Given the description of an element on the screen output the (x, y) to click on. 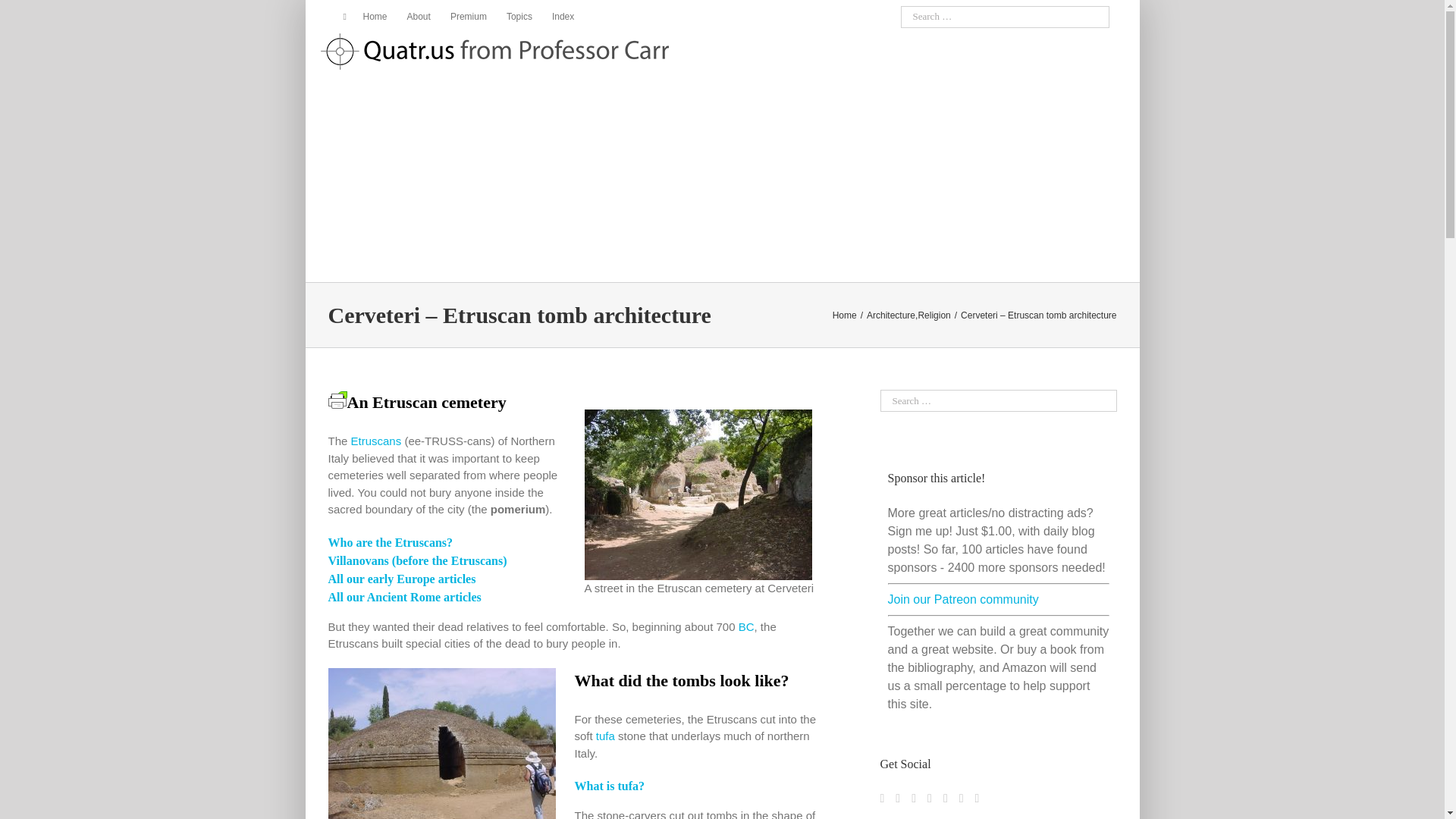
Etruscans (375, 440)
Home (369, 16)
Religion (933, 314)
Home (844, 314)
Index (562, 16)
Topics (518, 16)
Architecture (890, 314)
Premium (468, 16)
Search for: (1005, 16)
About (419, 16)
